Given the description of an element on the screen output the (x, y) to click on. 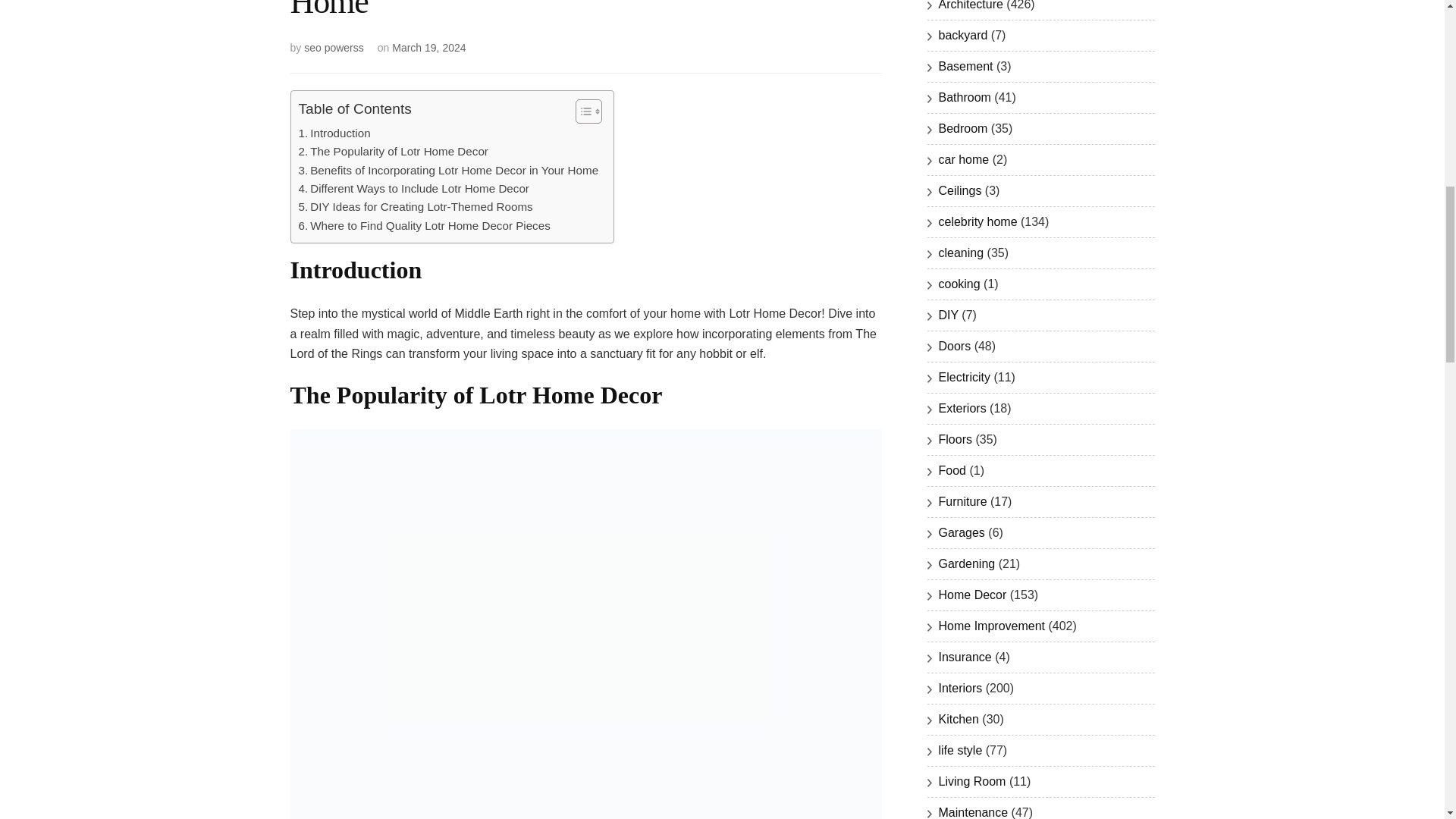
Where to Find Quality Lotr Home Decor Pieces (424, 226)
The Popularity of Lotr Home Decor (392, 151)
Benefits of Incorporating Lotr Home Decor in Your Home (448, 170)
Different Ways to Include Lotr Home Decor (413, 188)
DIY Ideas for Creating Lotr-Themed Rooms (415, 207)
seo powerss (334, 47)
Introduction (334, 133)
